Given the description of an element on the screen output the (x, y) to click on. 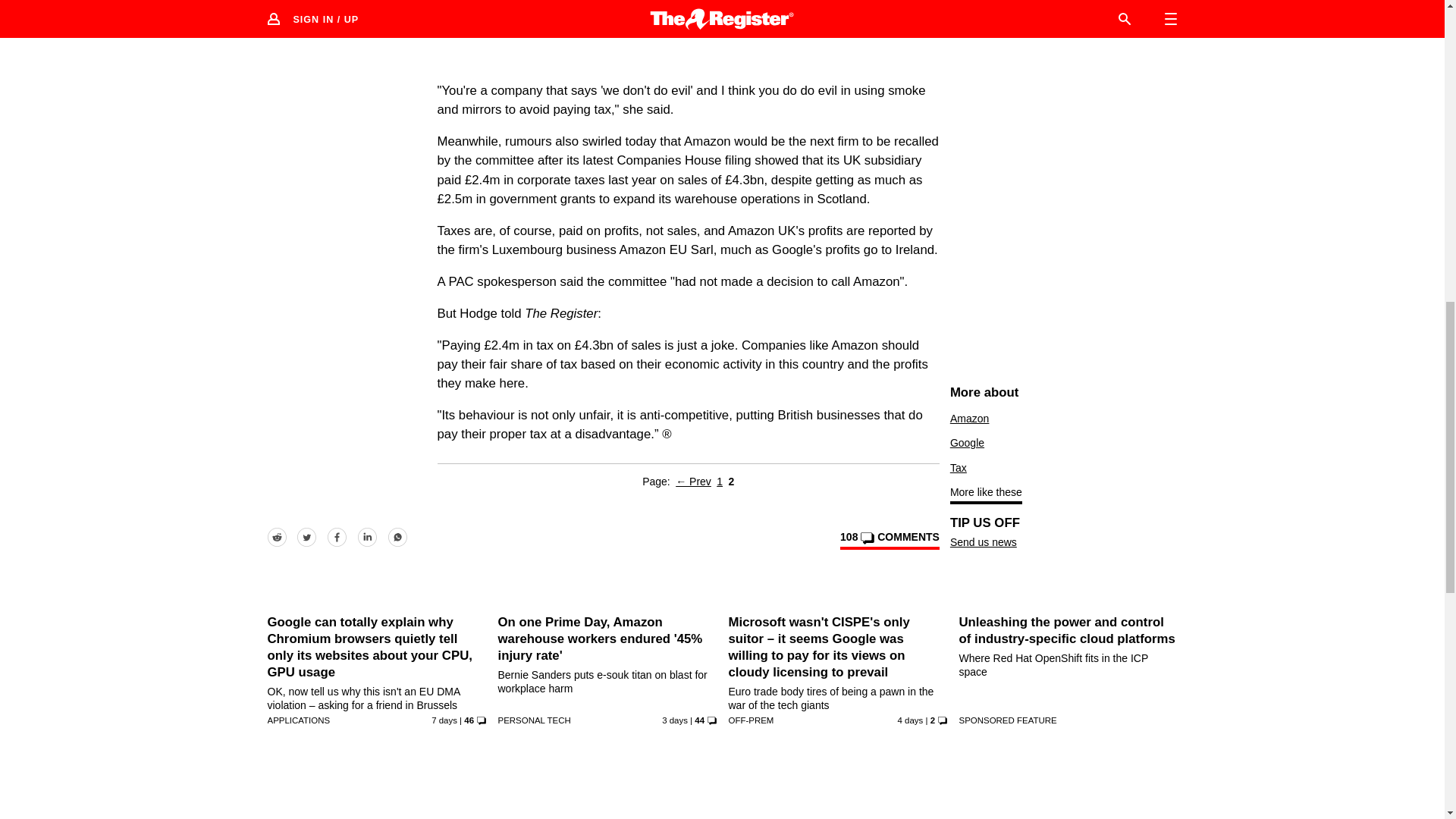
12 Jul 2024 10:28 (443, 719)
16 Jul 2024 4:1 (910, 719)
16 Jul 2024 21:34 (674, 719)
View comments on this article (889, 539)
